Given the description of an element on the screen output the (x, y) to click on. 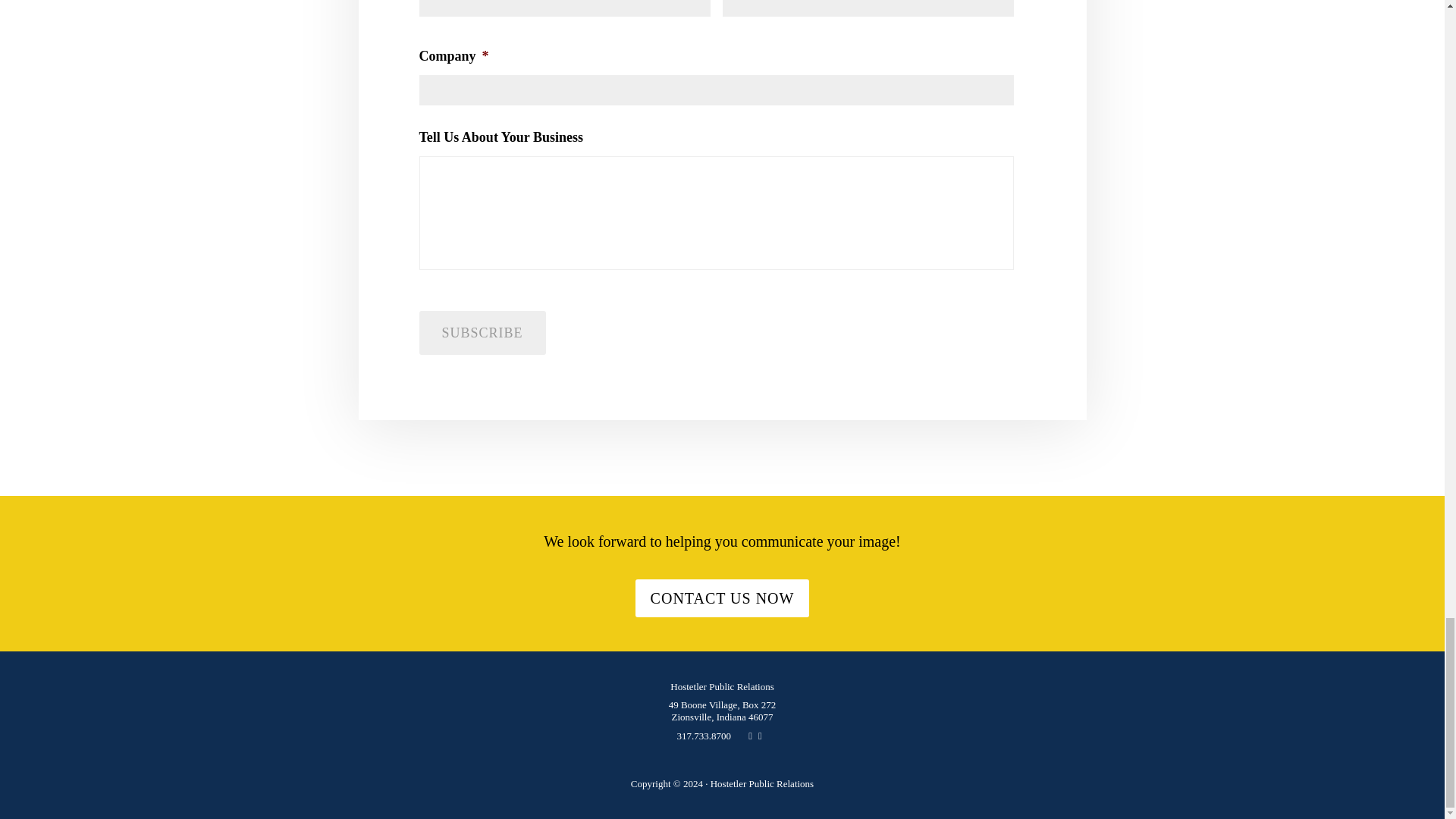
Subscribe (481, 332)
Subscribe (481, 332)
CONTACT US NOW (721, 598)
